Given the description of an element on the screen output the (x, y) to click on. 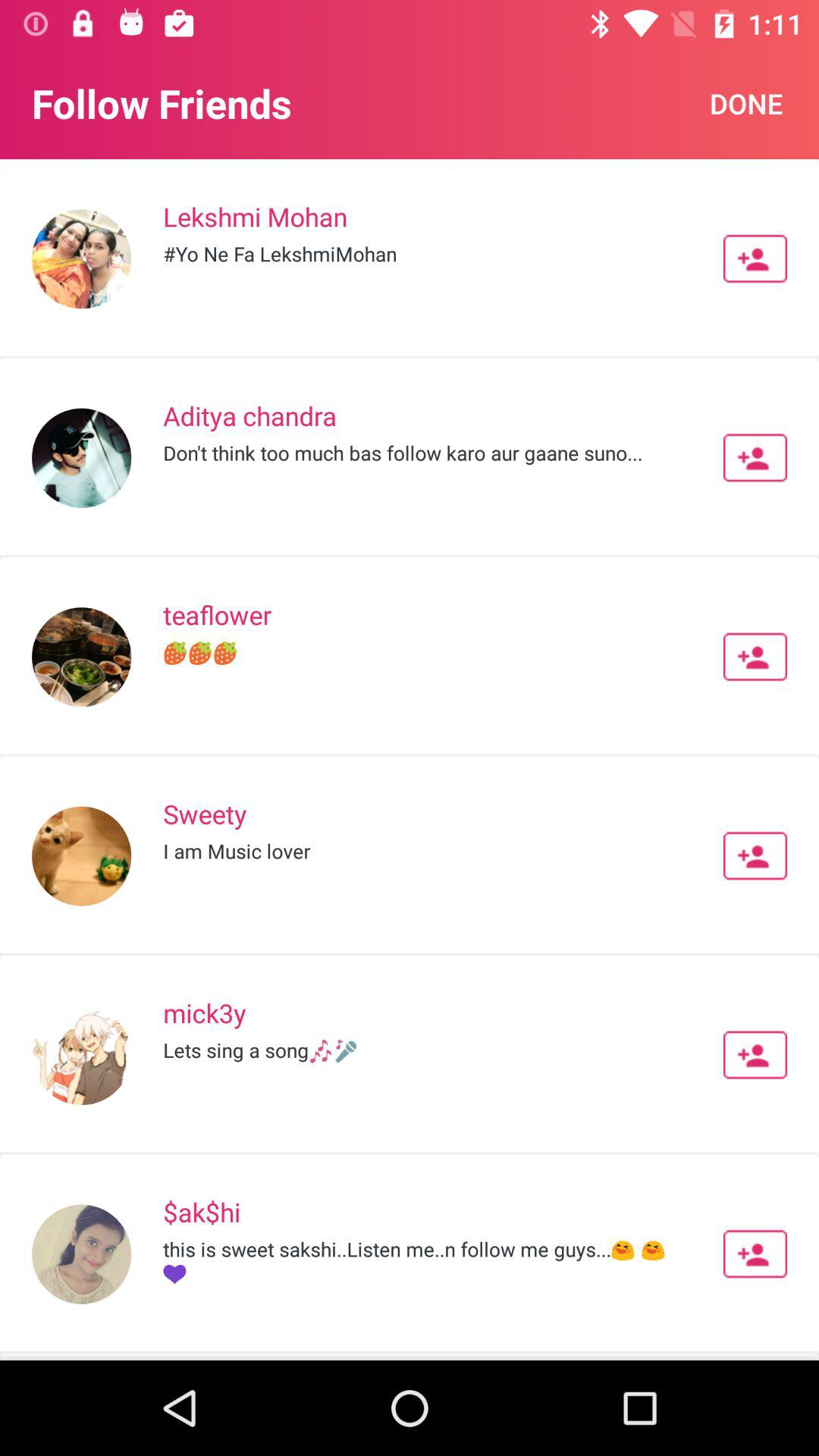
add friend (755, 1253)
